Given the description of an element on the screen output the (x, y) to click on. 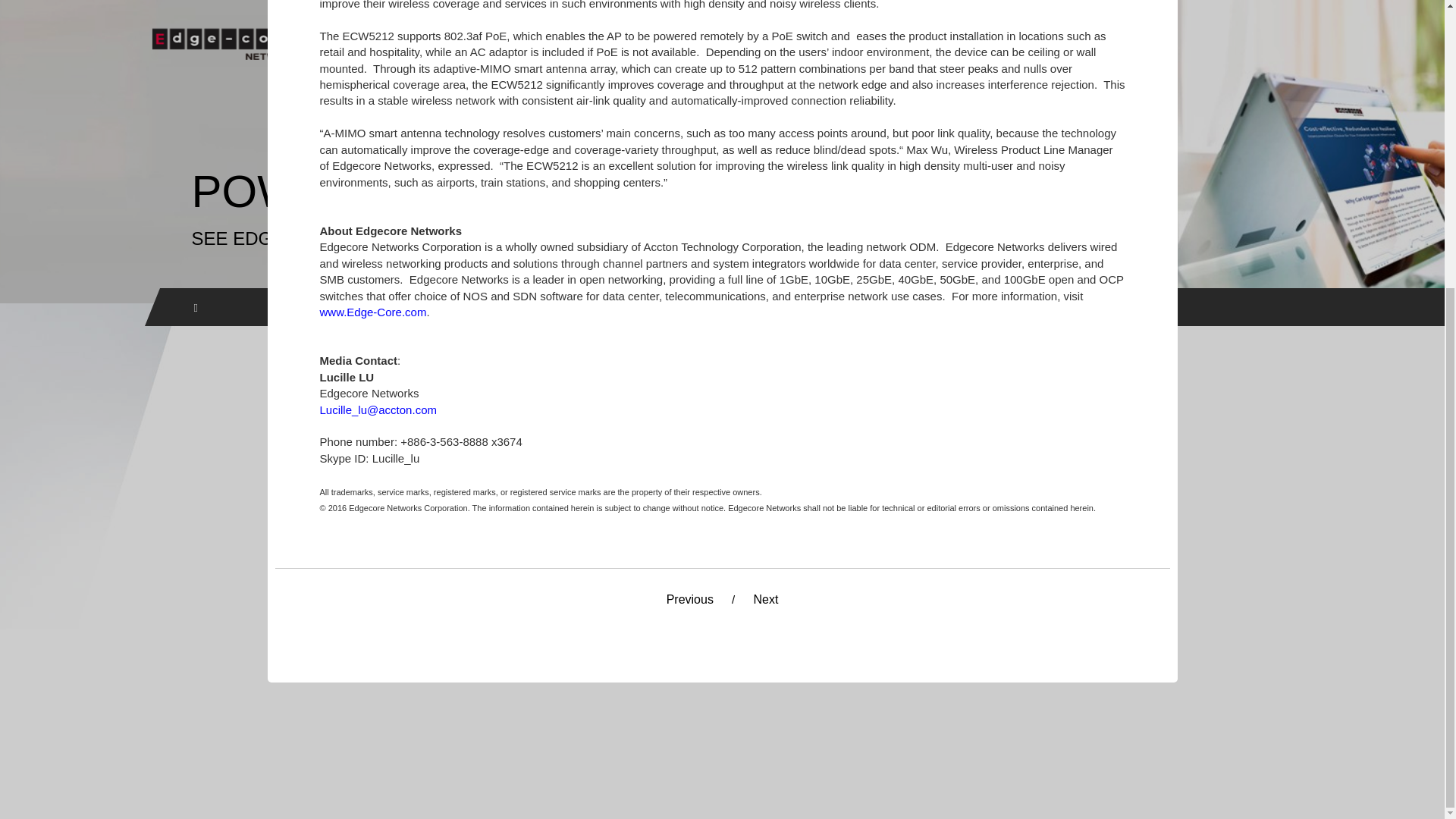
Next (776, 602)
www.Edge-Core.com (373, 311)
Previous (678, 602)
